Given the description of an element on the screen output the (x, y) to click on. 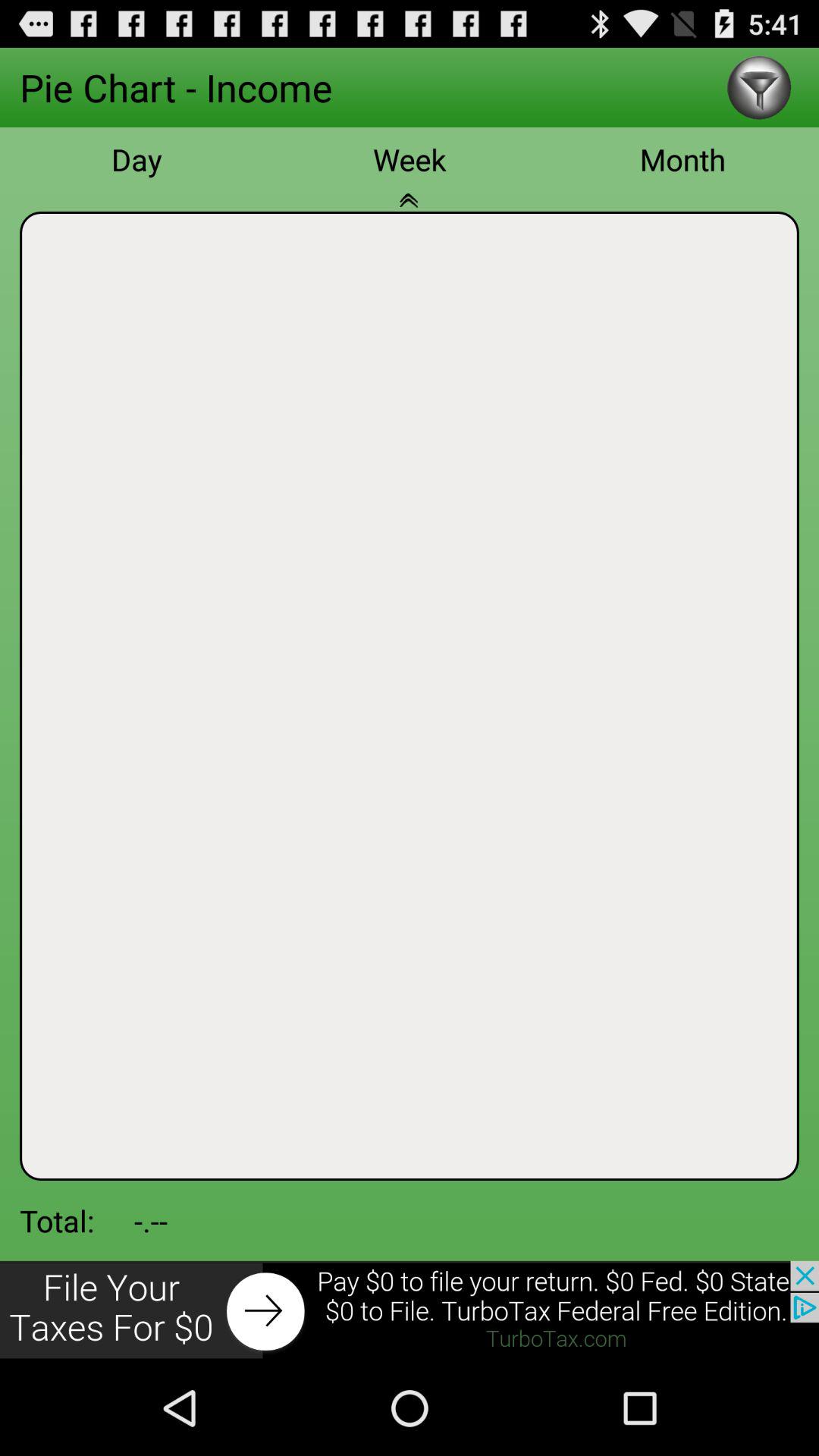
advertisements image (409, 1310)
